Given the description of an element on the screen output the (x, y) to click on. 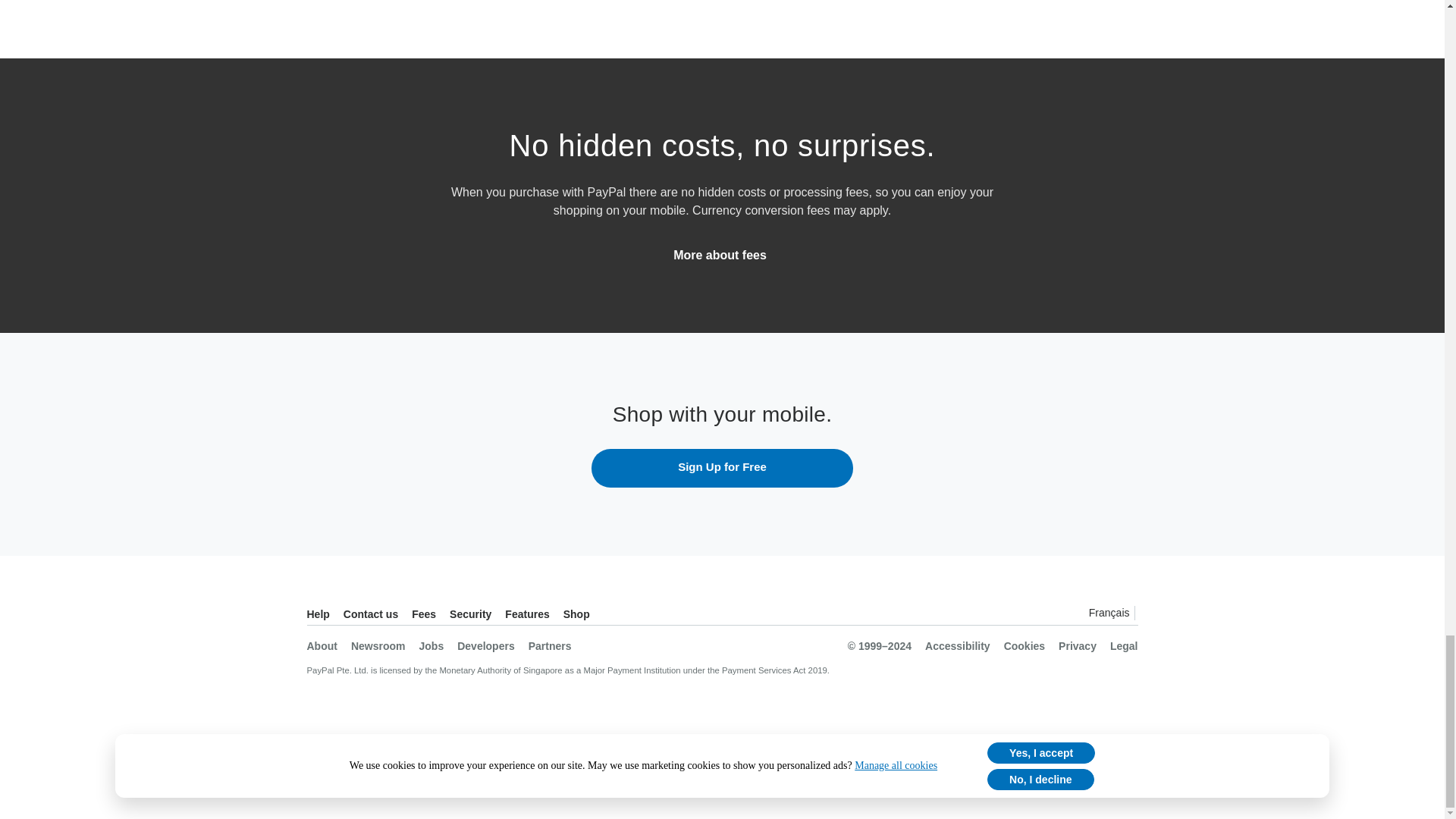
Features (526, 613)
Jobs (431, 641)
More about fees (719, 255)
Cookies (1024, 641)
Fees (423, 613)
Legal (1123, 641)
Help (317, 613)
Security (470, 613)
Accessibility (957, 641)
Partners (550, 641)
Contact us (370, 613)
About (320, 641)
Newsroom (378, 641)
Privacy (1077, 641)
Shop (576, 613)
